Given the description of an element on the screen output the (x, y) to click on. 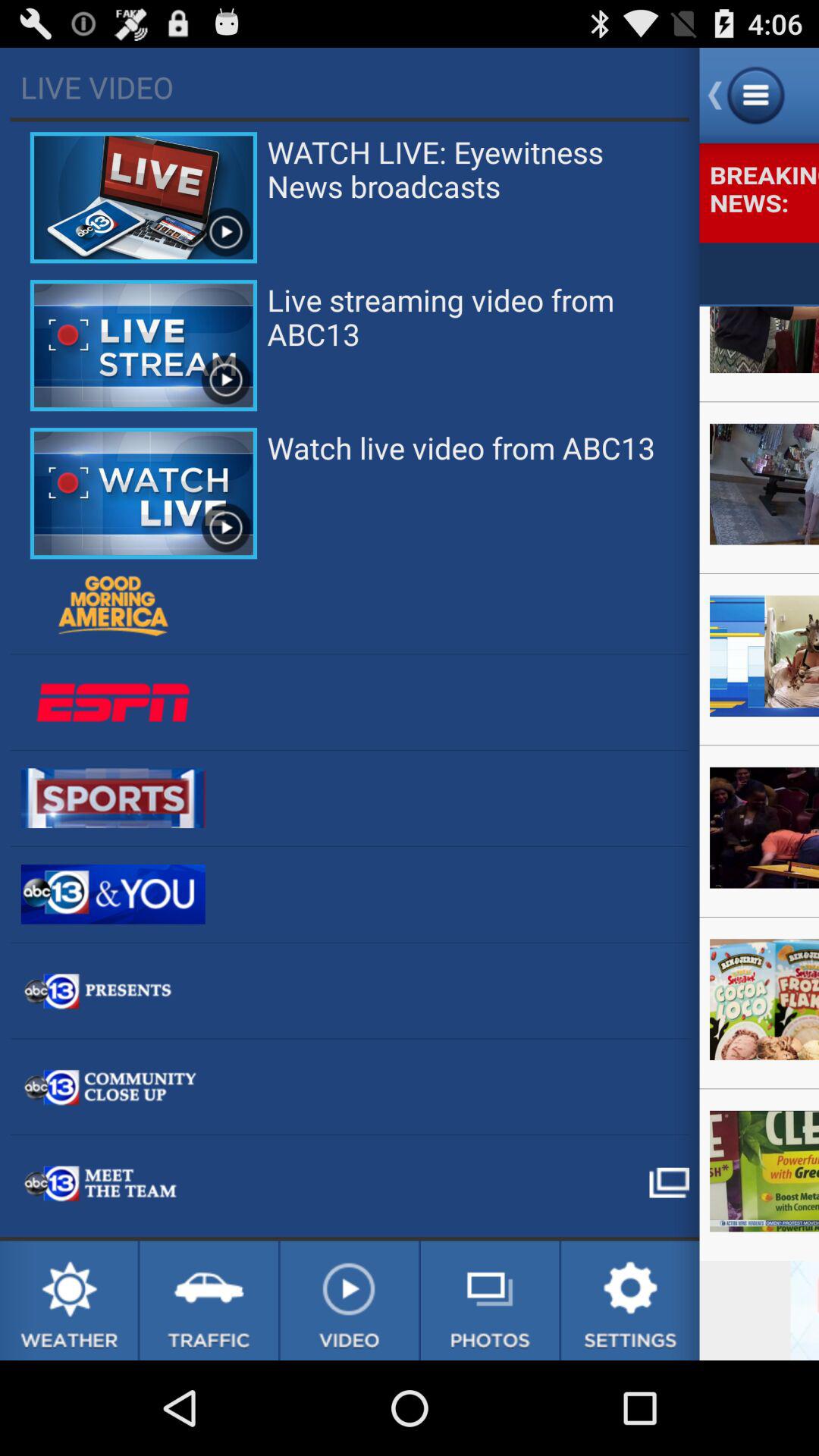
go to videos available (349, 1300)
